Given the description of an element on the screen output the (x, y) to click on. 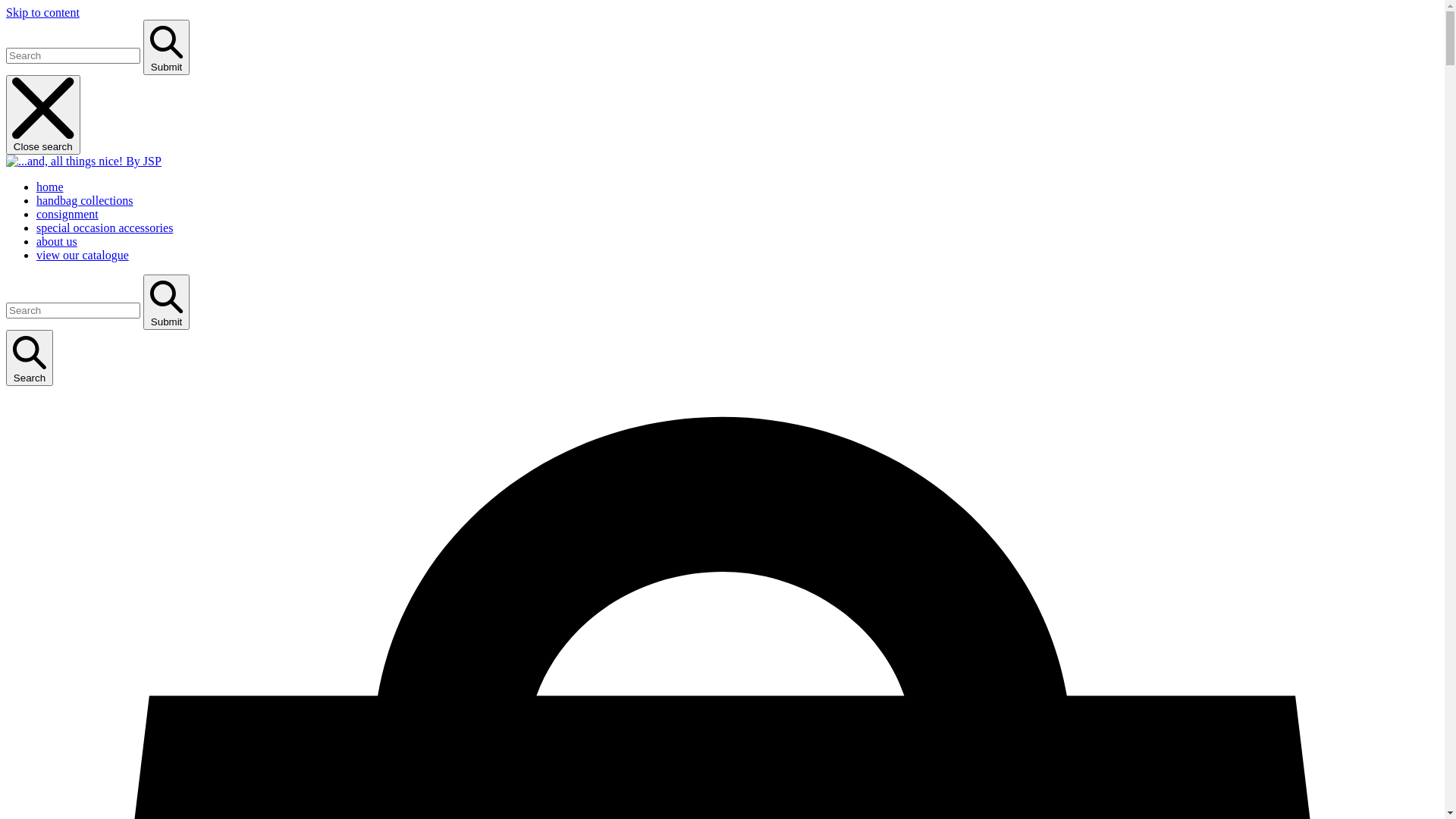
Skip to content Element type: text (42, 12)
consignment Element type: text (67, 213)
home Element type: text (49, 186)
Submit Element type: text (166, 301)
view our catalogue Element type: text (82, 254)
special occasion accessories Element type: text (104, 227)
Search Element type: text (29, 357)
handbag collections Element type: text (84, 200)
Close search Element type: text (43, 115)
Submit Element type: text (166, 47)
about us Element type: text (56, 241)
